Given the description of an element on the screen output the (x, y) to click on. 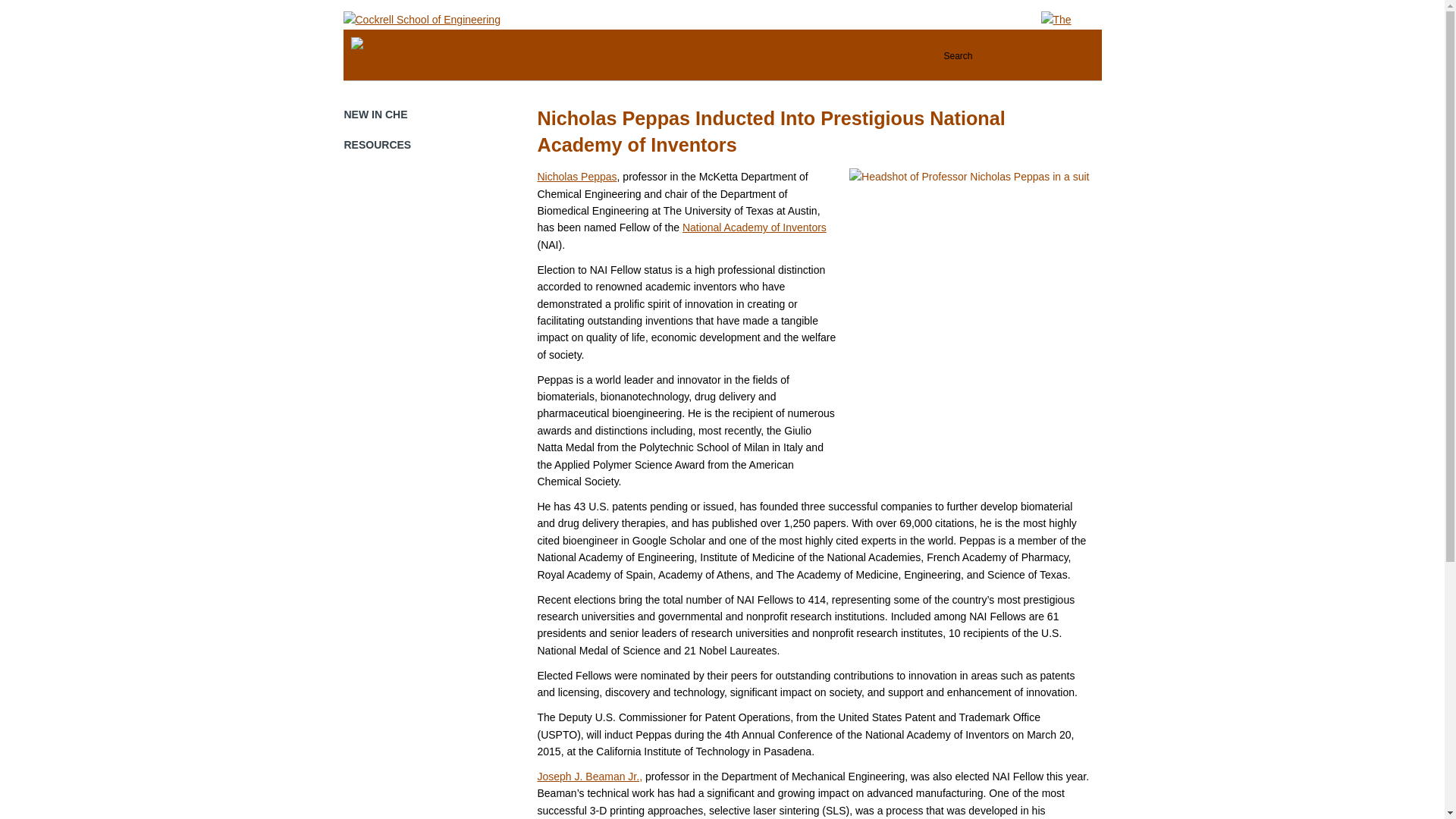
Search (1010, 54)
Link to Joseph Beaman's profile page (589, 776)
Search (1010, 54)
Link to Nicholas Peppas' profile page (576, 176)
Joseph J. Beaman Jr., (589, 776)
McKetta Department of Chemical Engineering (458, 42)
Cockrell School of Engineering (420, 19)
Link to National Academy of Inventors website (754, 227)
National Academy of Inventors (754, 227)
The University of Texas at Austin (1070, 45)
Nicholas Peppas (576, 176)
